Given the description of an element on the screen output the (x, y) to click on. 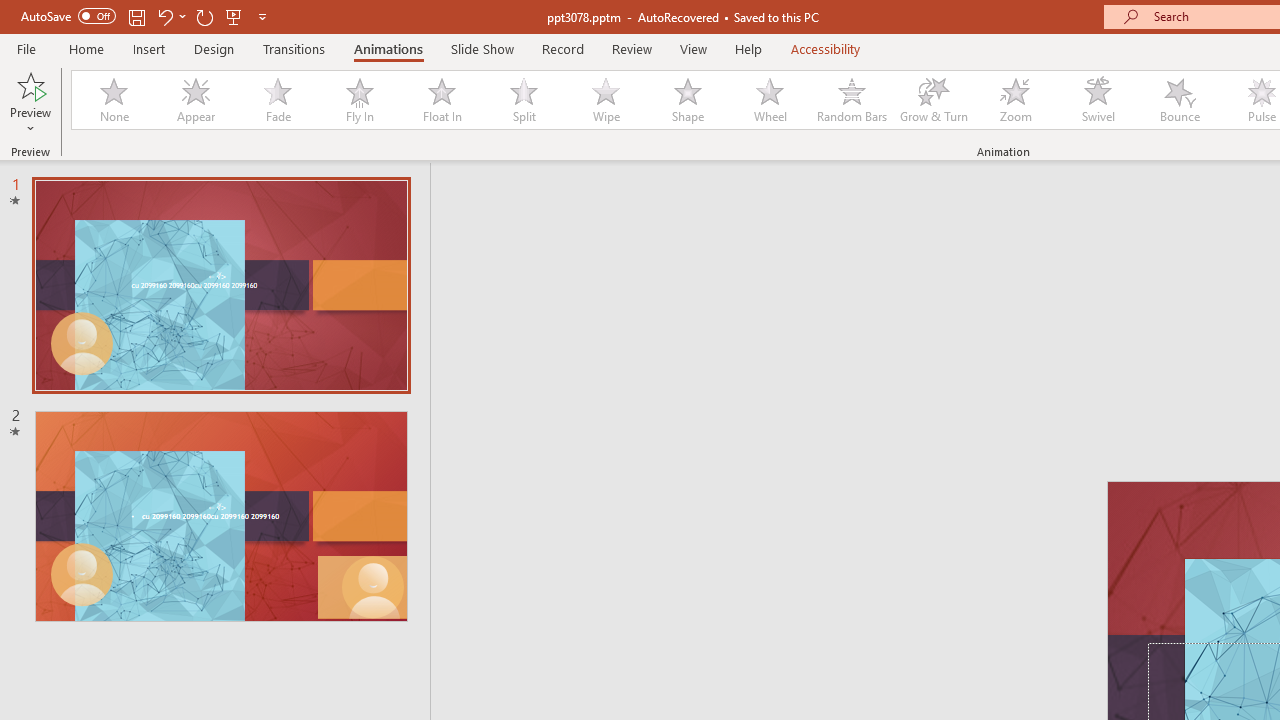
Fly In (359, 100)
Wipe (605, 100)
Split (523, 100)
Shape (687, 100)
Random Bars (852, 100)
